Given the description of an element on the screen output the (x, y) to click on. 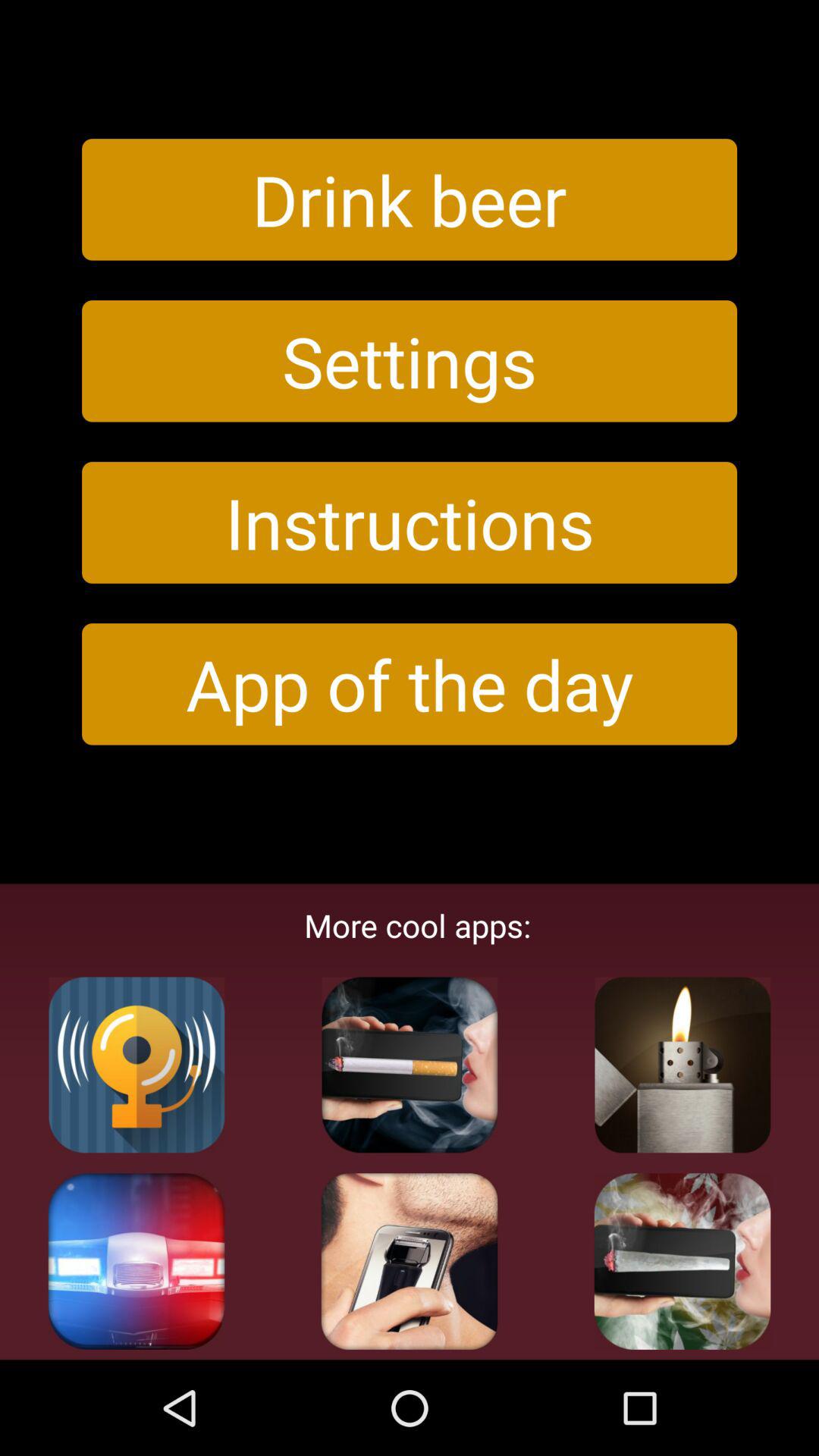
swipe until drink beer item (409, 199)
